Given the description of an element on the screen output the (x, y) to click on. 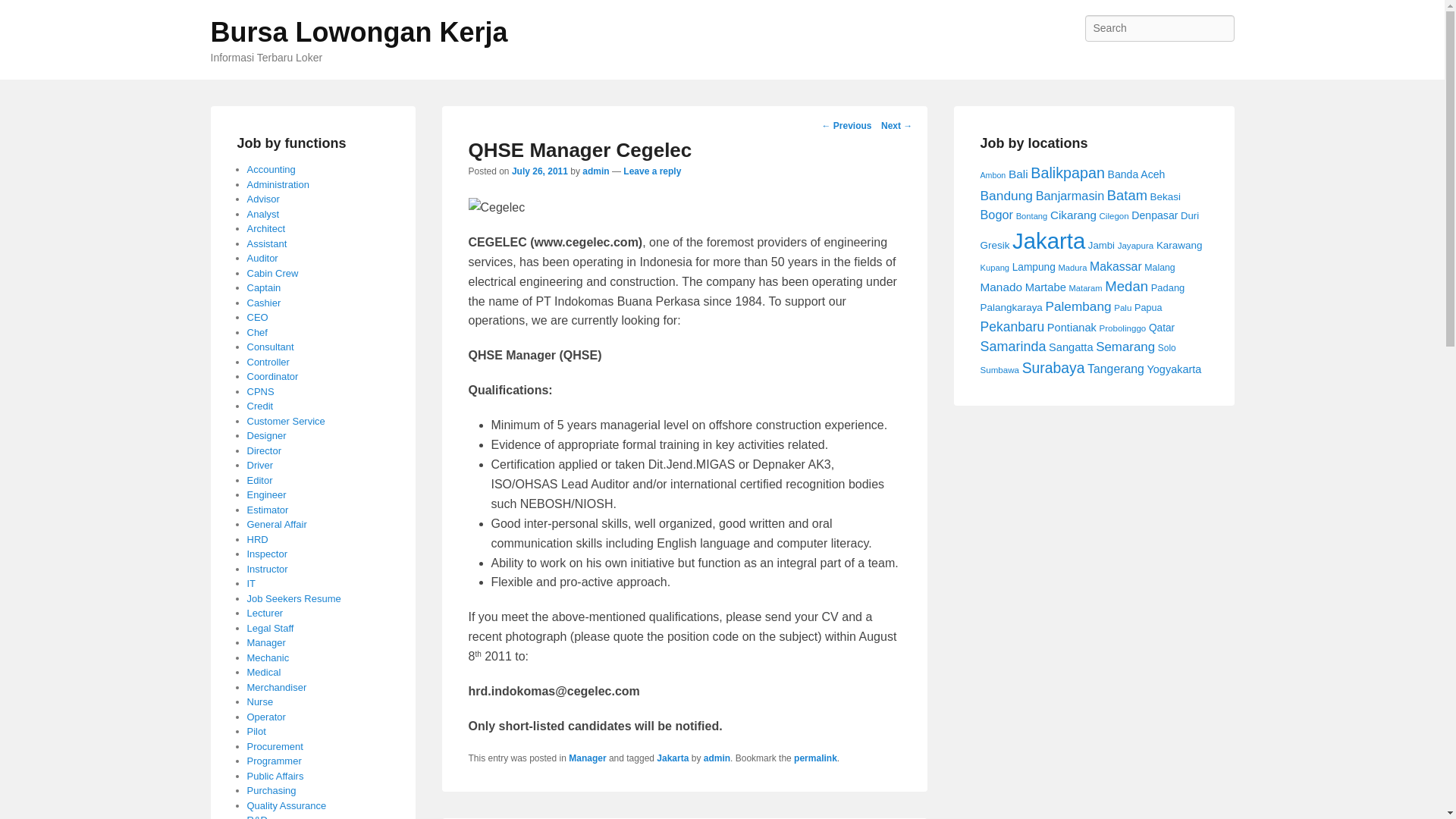
Cegelec (496, 207)
Martabe (1045, 287)
Manado (1000, 286)
Cikarang (1072, 214)
Balikpapan (1067, 172)
Mataram (1085, 287)
View all posts by admin (595, 171)
Search (24, 14)
Bali (1018, 173)
Ambon (992, 174)
Makassar (1115, 266)
Bekasi (1165, 196)
Malang (1159, 267)
Leave a reply (652, 171)
Denpasar (1154, 215)
